Given the description of an element on the screen output the (x, y) to click on. 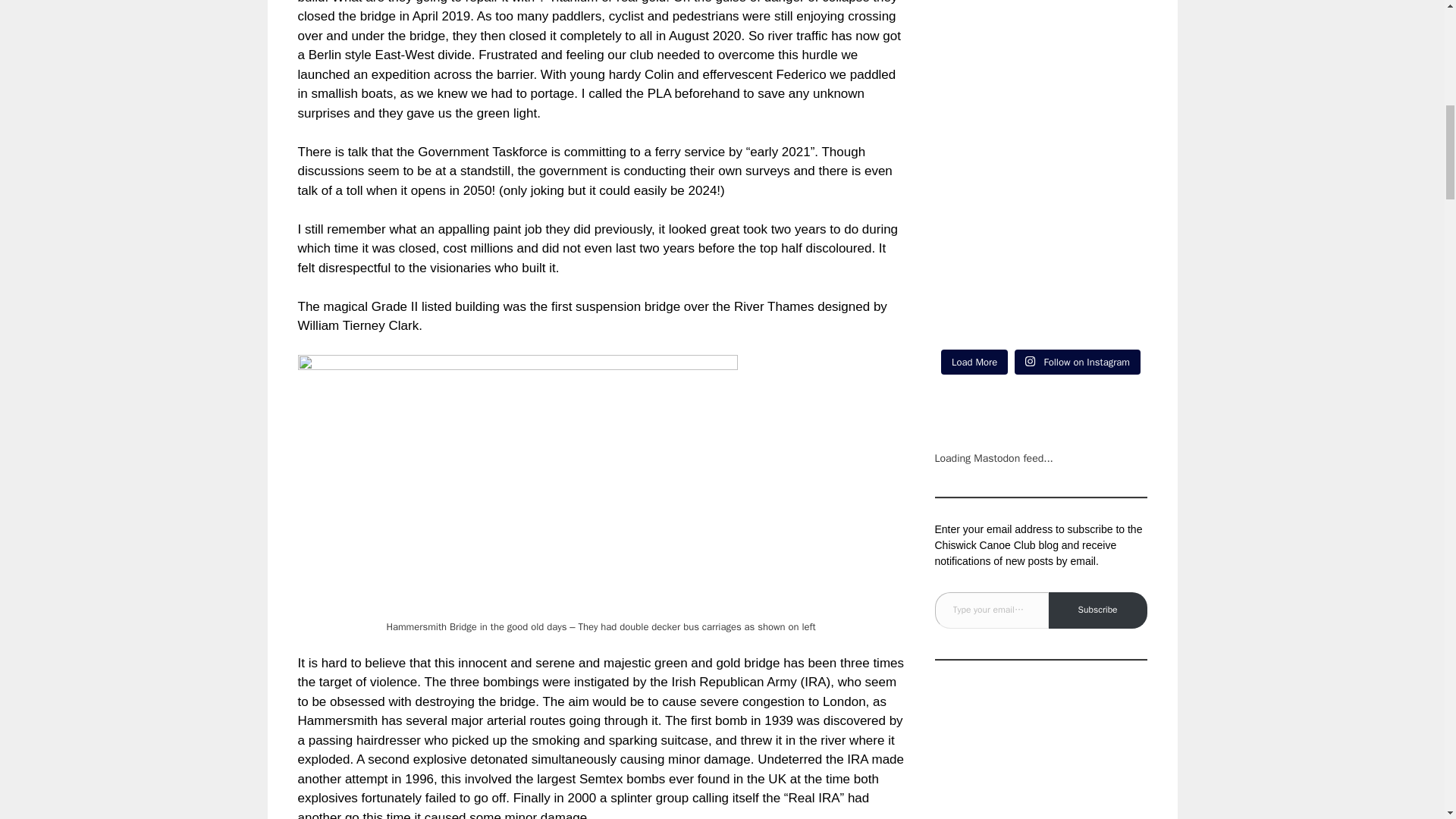
Follow on Instagram (1077, 361)
Load More (973, 361)
Please fill in this field. (991, 610)
Subscribe (1097, 610)
